Given the description of an element on the screen output the (x, y) to click on. 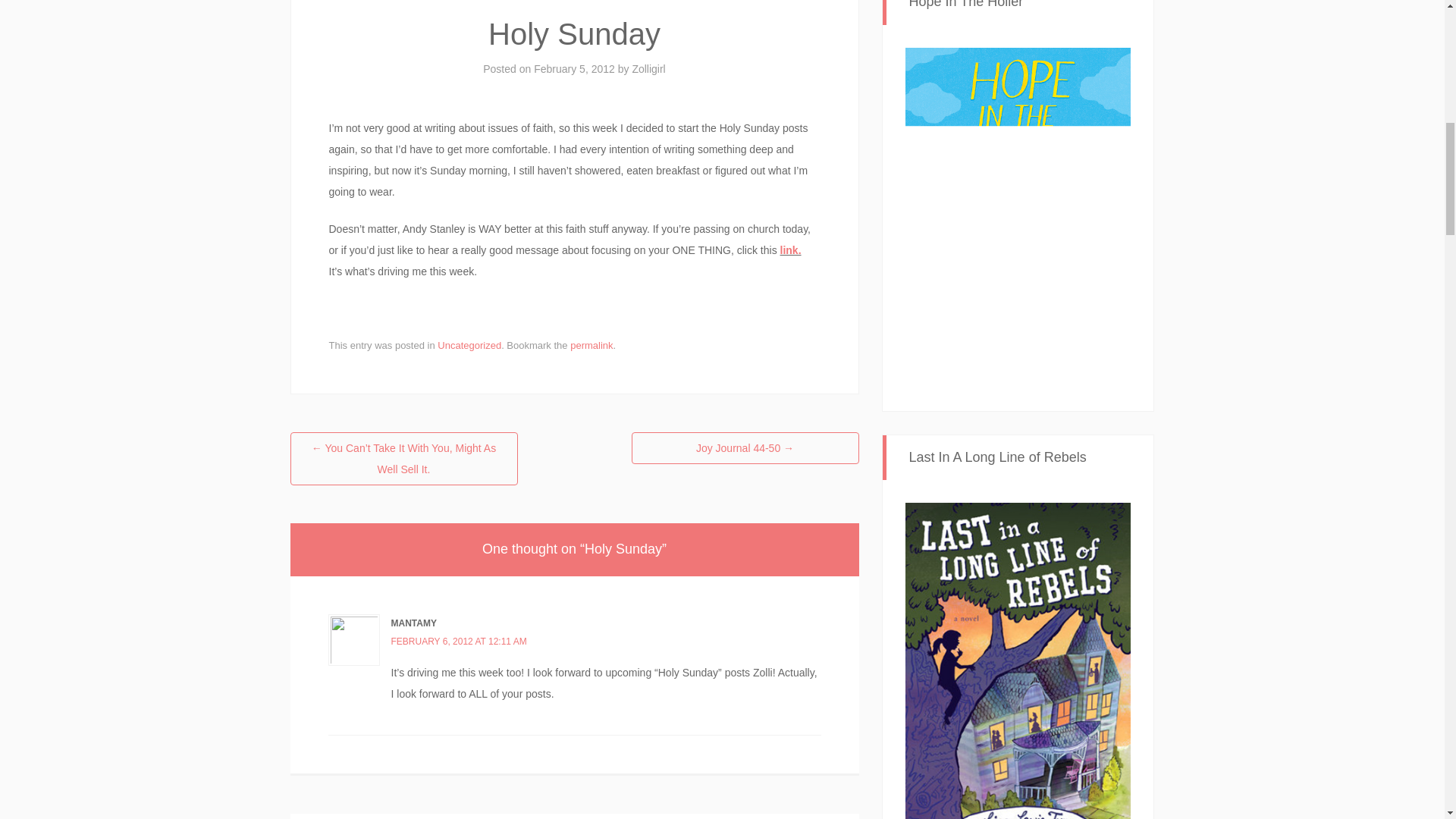
Zolligirl (648, 69)
link. (791, 250)
Hope In The Holler (1018, 216)
Last In A Long Line of Rebels (1018, 672)
Uncategorized (469, 345)
FEBRUARY 6, 2012 AT 12:11 AM (459, 641)
February 5, 2012 (574, 69)
permalink (591, 345)
